Given the description of an element on the screen output the (x, y) to click on. 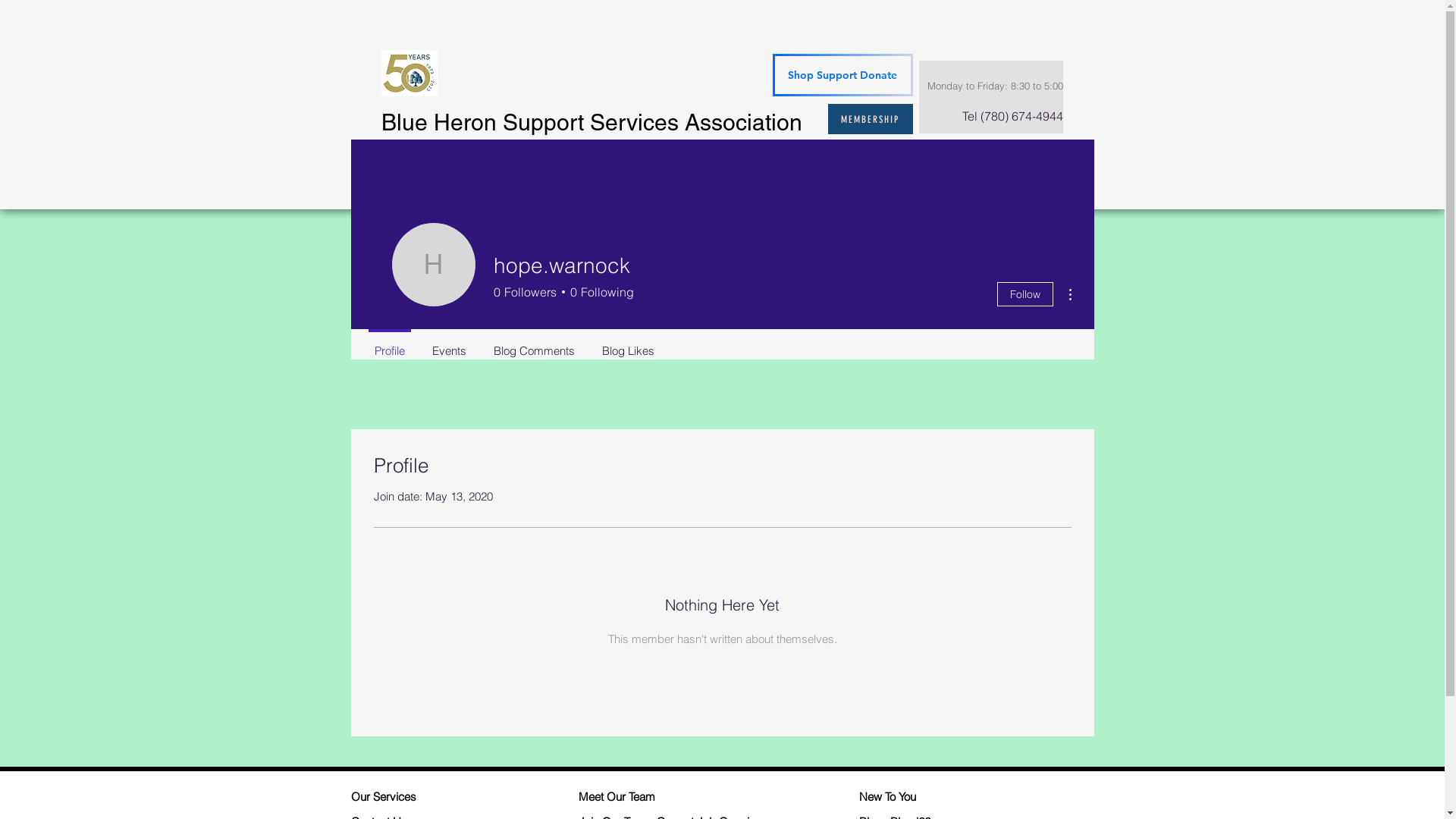
Home Element type: text (384, 179)
0
Followers Element type: text (523, 291)
New To You Element type: text (846, 179)
Contact Element type: text (1055, 179)
MEMBERSHIP Element type: text (870, 118)
Profile Element type: text (389, 344)
Blue's Blog 2022 Element type: text (956, 179)
Meet Our Team Element type: text (643, 796)
Shop Support Donate Element type: text (841, 74)
0
Following Element type: text (598, 291)
Blog Comments Element type: text (533, 344)
Events Element type: text (449, 344)
Our Services Element type: text (407, 796)
Adult Learning Element type: text (739, 179)
Follow Element type: text (1024, 294)
Blog Likes Element type: text (628, 344)
New To You Element type: text (915, 796)
